Given the description of an element on the screen output the (x, y) to click on. 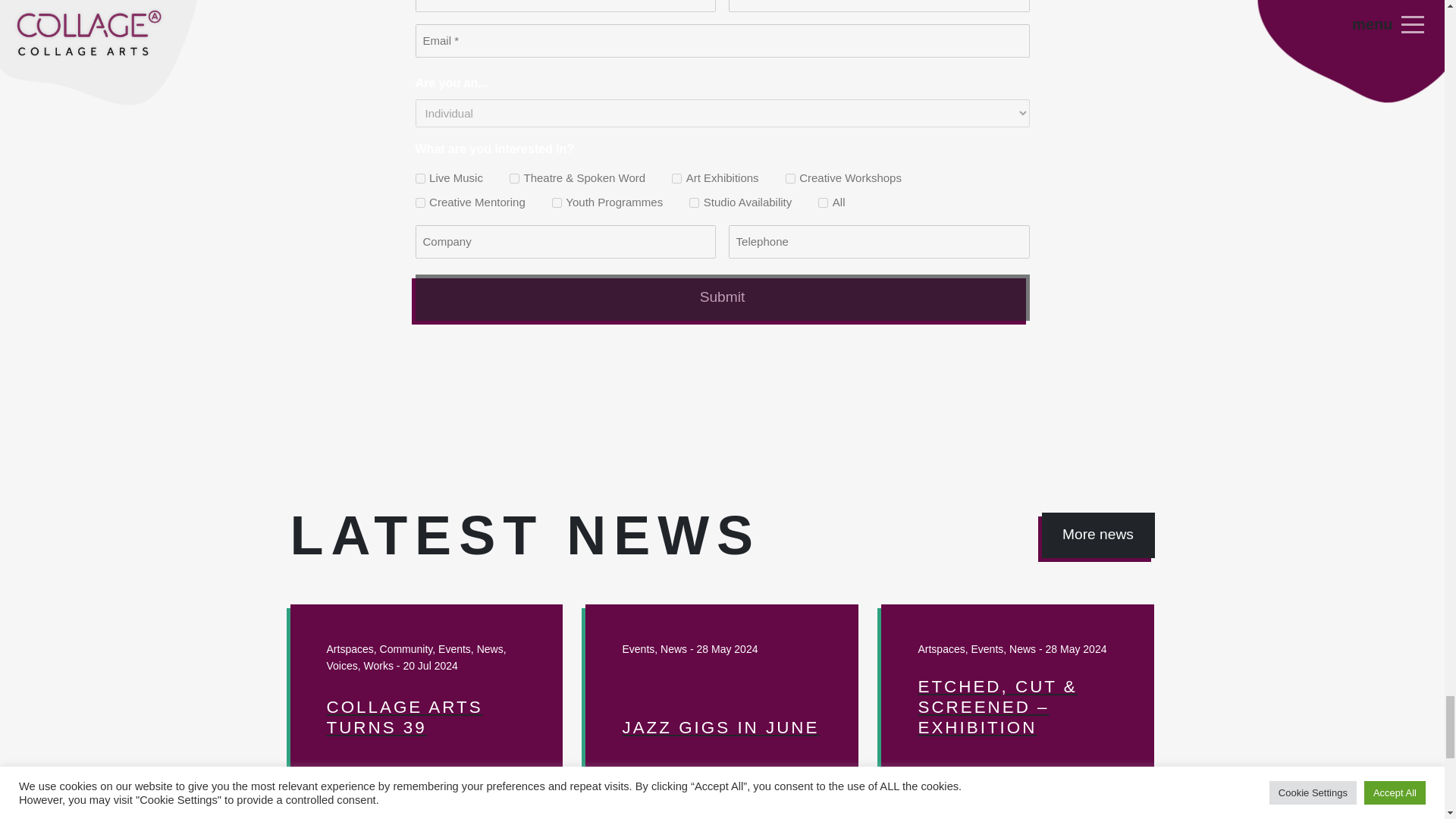
Art Exhibitions (676, 178)
Studio Availability (693, 203)
Youth Programmes (556, 203)
Live Music (419, 178)
All (823, 203)
Submit (721, 297)
Creative Workshops (790, 178)
Creative Mentoring (419, 203)
